Given the description of an element on the screen output the (x, y) to click on. 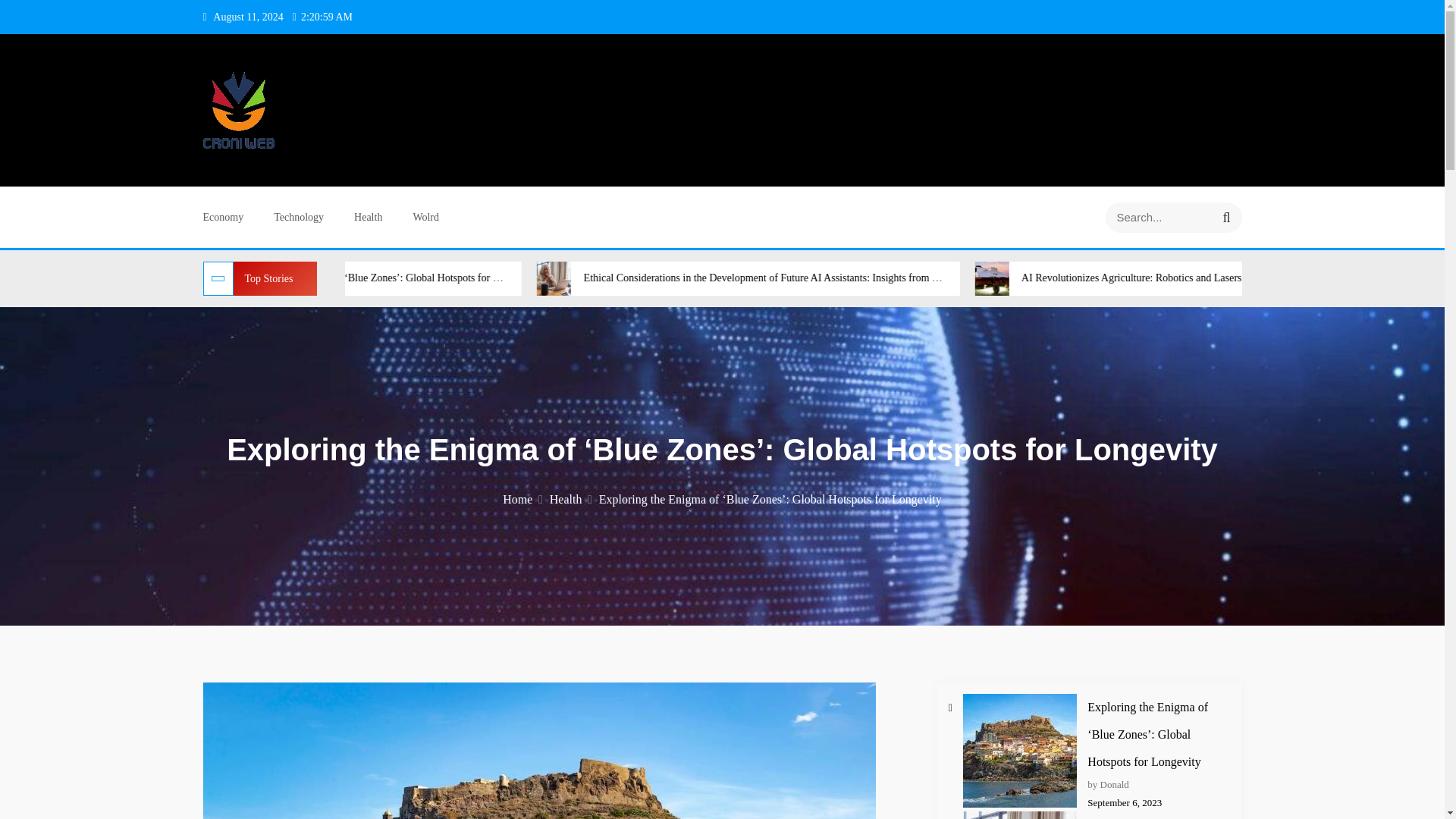
Technology (298, 216)
Health (571, 499)
Economy (223, 216)
Health (367, 216)
Search (1226, 217)
Wolrd (425, 216)
Home (521, 499)
